Given the description of an element on the screen output the (x, y) to click on. 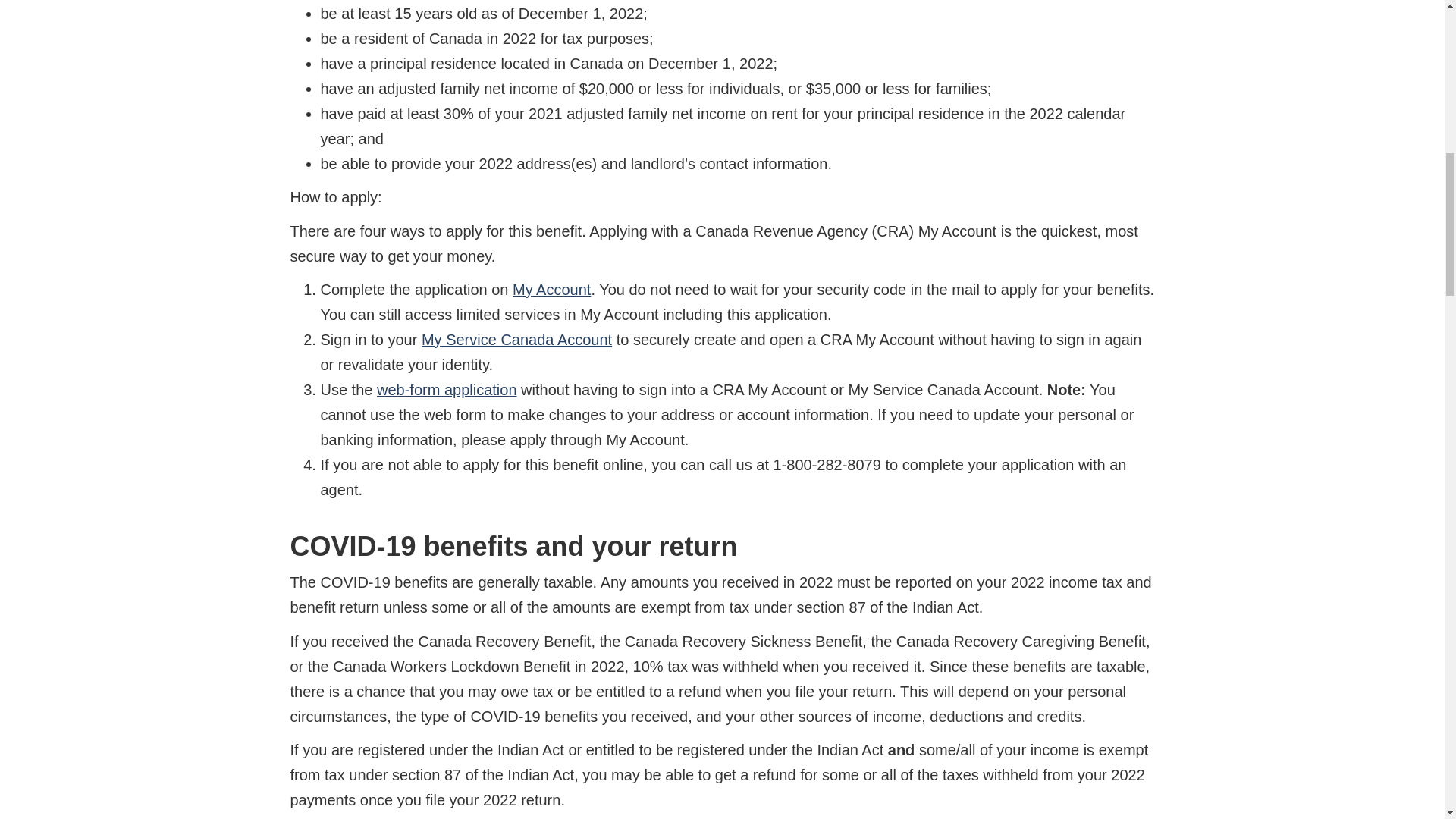
web-form application (446, 389)
My Account (551, 289)
My Service Canada Account (516, 339)
